Given the description of an element on the screen output the (x, y) to click on. 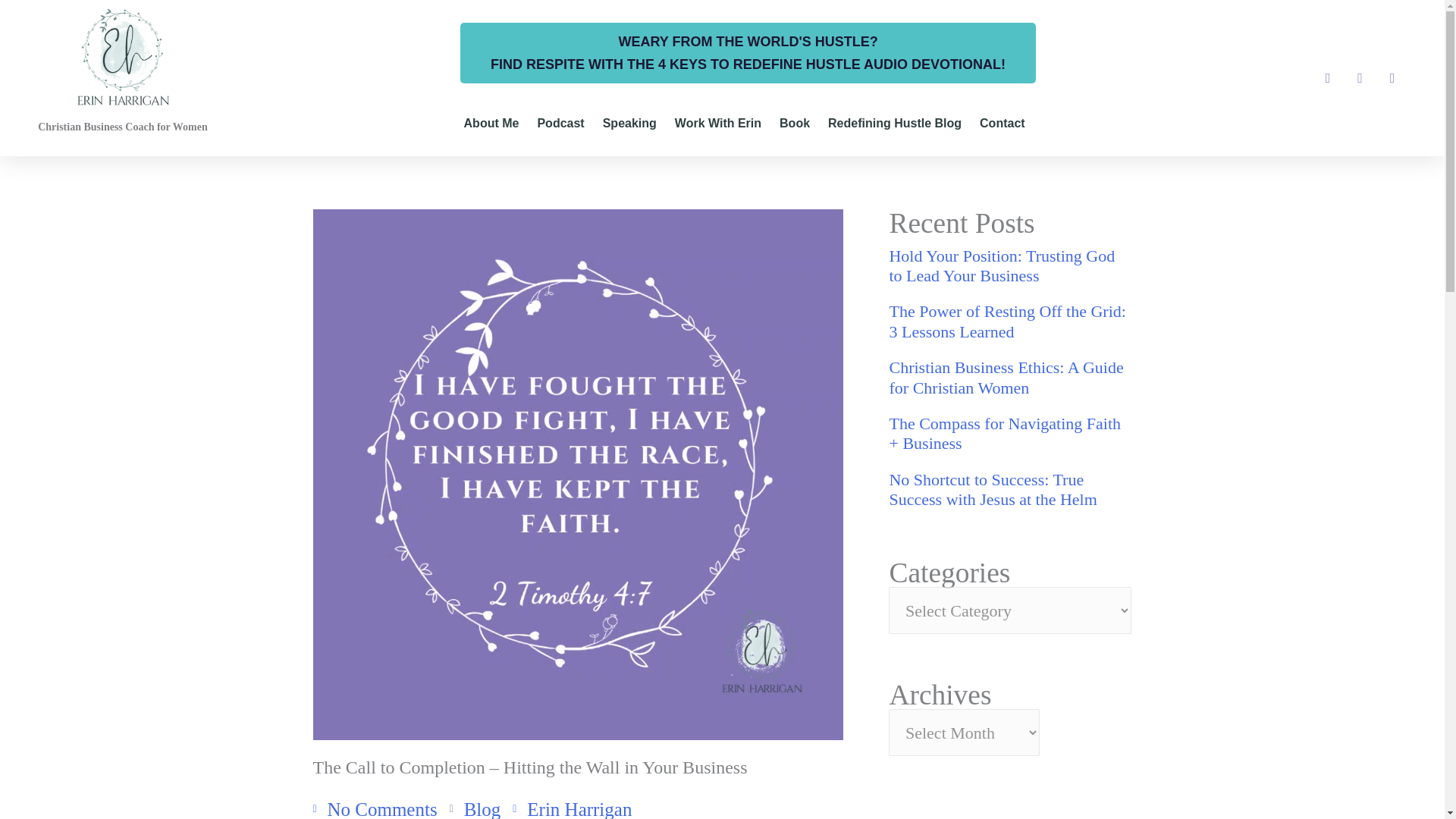
No Comments (374, 807)
Hold Your Position: Trusting God to Lead Your Business (1009, 266)
Podcast (560, 123)
Erin Harrigan (571, 807)
Blog (482, 809)
Redefining Hustle Blog (894, 123)
About Me (491, 123)
The Power of Resting Off the Grid: 3 Lessons Learned (1009, 322)
Contact (1002, 123)
Speaking (629, 123)
No Shortcut to Success: True Success with Jesus at the Helm (1009, 490)
Work With Erin (718, 123)
Christian Business Ethics: A Guide for Christian Women (1009, 377)
